Given the description of an element on the screen output the (x, y) to click on. 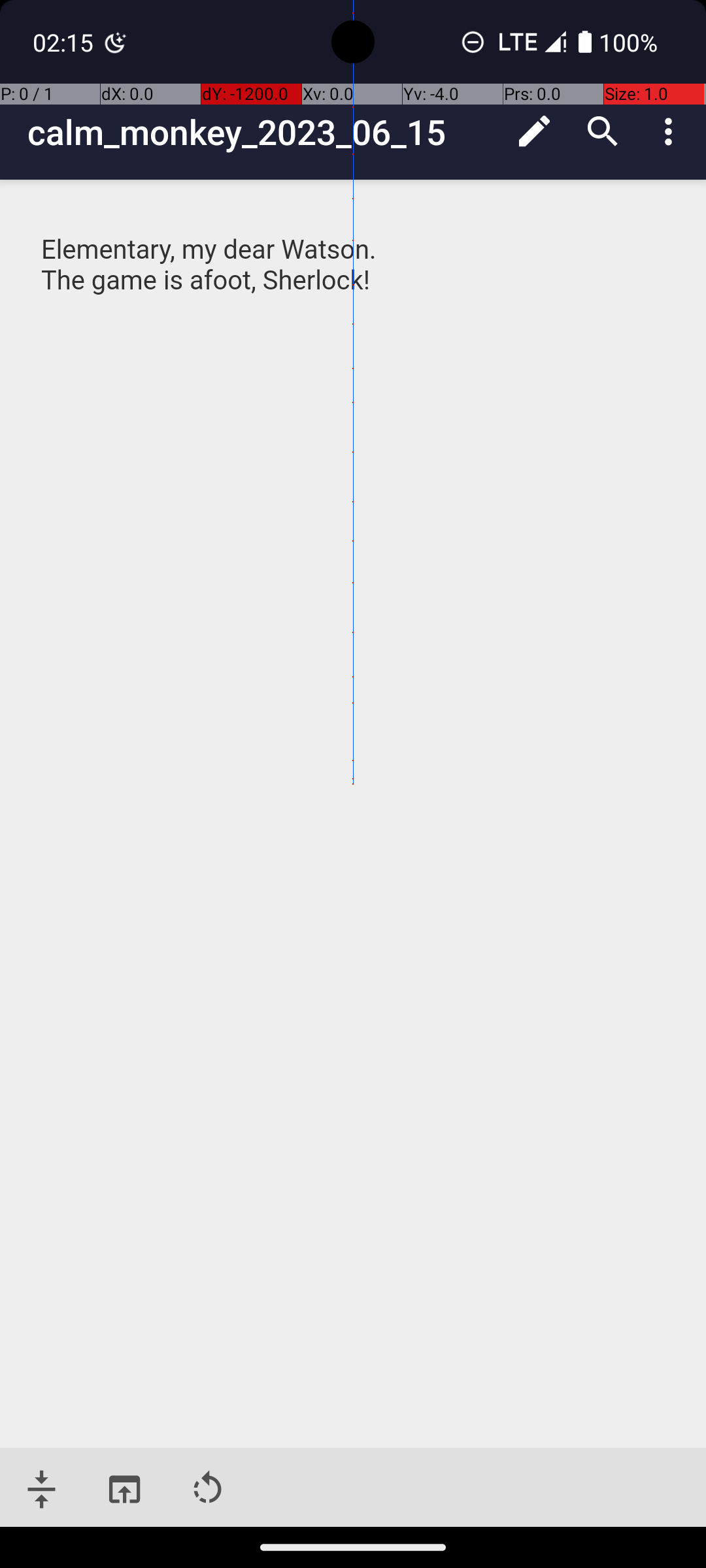
calm_monkey_2023_06_15 Element type: android.widget.TextView (263, 131)
Open with Element type: android.widget.ImageView (124, 1488)
Elementary, my dear Watson.
The game is afoot, Sherlock!
     Element type: android.widget.TextView (354, 280)
02:15 Element type: android.widget.TextView (64, 41)
Digital Wellbeing notification: Bedtime mode is on Element type: android.widget.ImageView (115, 41)
